Given the description of an element on the screen output the (x, y) to click on. 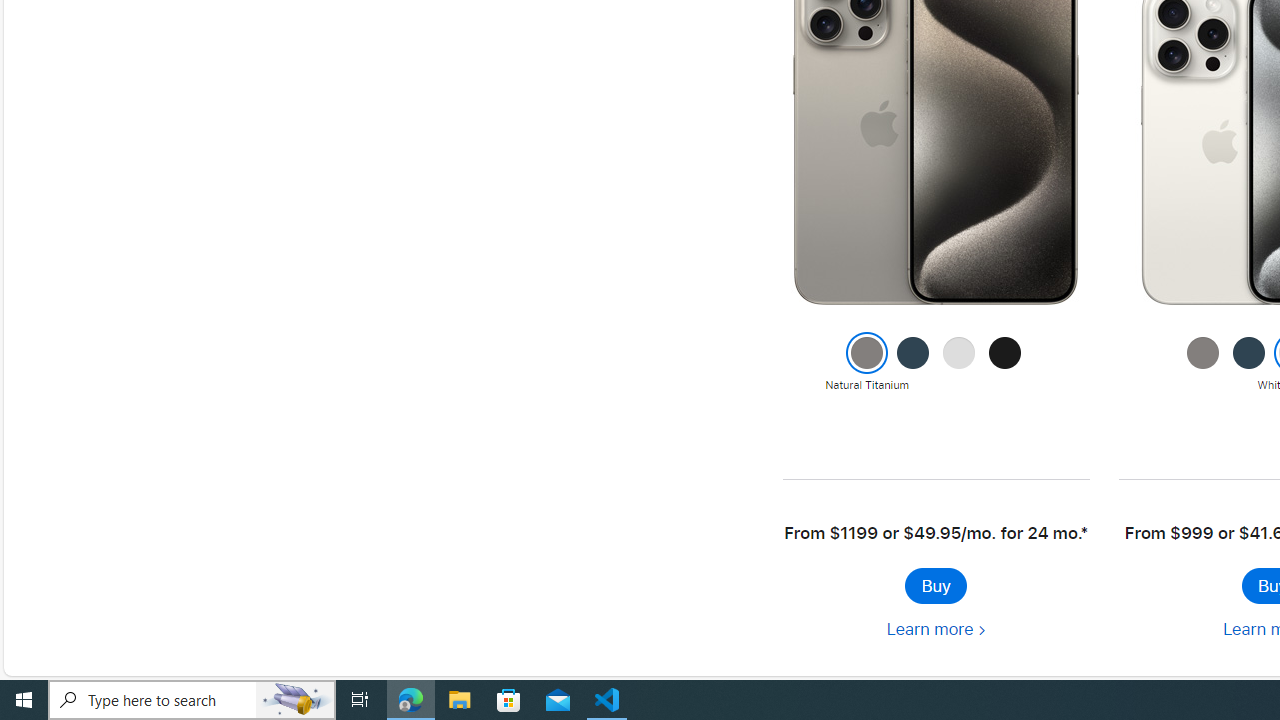
Class: colornav-link (1249, 353)
Class: colornav-link current (867, 353)
Footnote * symbol (1084, 533)
Blue Titanium (1249, 363)
Buy iPhone 15 Pro Max (935, 585)
White Titanium (959, 363)
Black Titanium (1005, 363)
Learn more about iPhone 15 Pro Max (935, 629)
Natural Titanium (1202, 363)
